Given the description of an element on the screen output the (x, y) to click on. 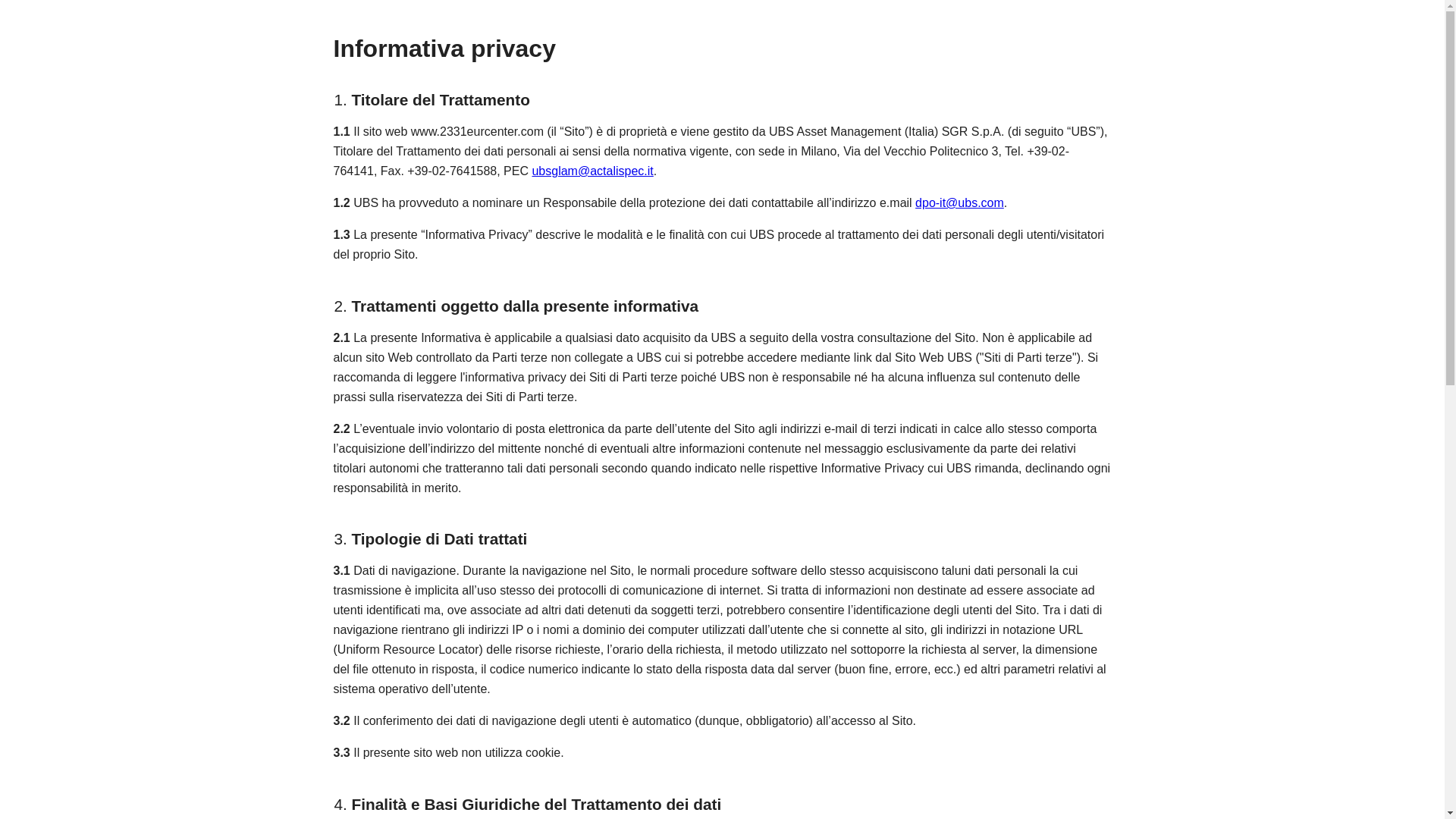
dpo-it@ubs.com Element type: text (959, 202)
ubsglam@actalispec.it Element type: text (591, 170)
